Given the description of an element on the screen output the (x, y) to click on. 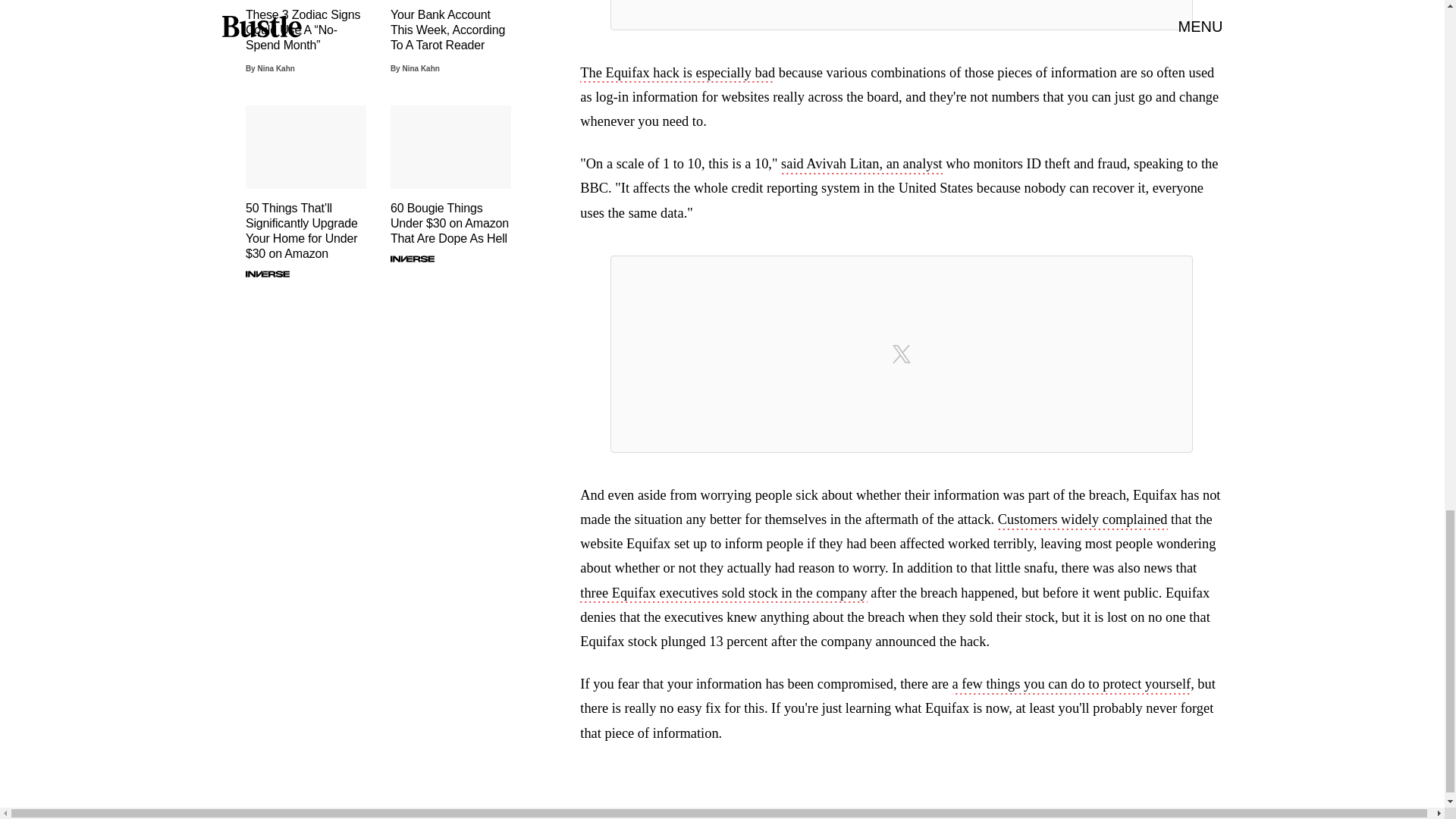
The Equifax hack is especially bad (676, 74)
Customers widely complained (1082, 520)
three Equifax executives sold stock in the company (722, 594)
said Avivah Litan, an analyst (861, 165)
a few things you can do to protect yourself (1071, 685)
